Given the description of an element on the screen output the (x, y) to click on. 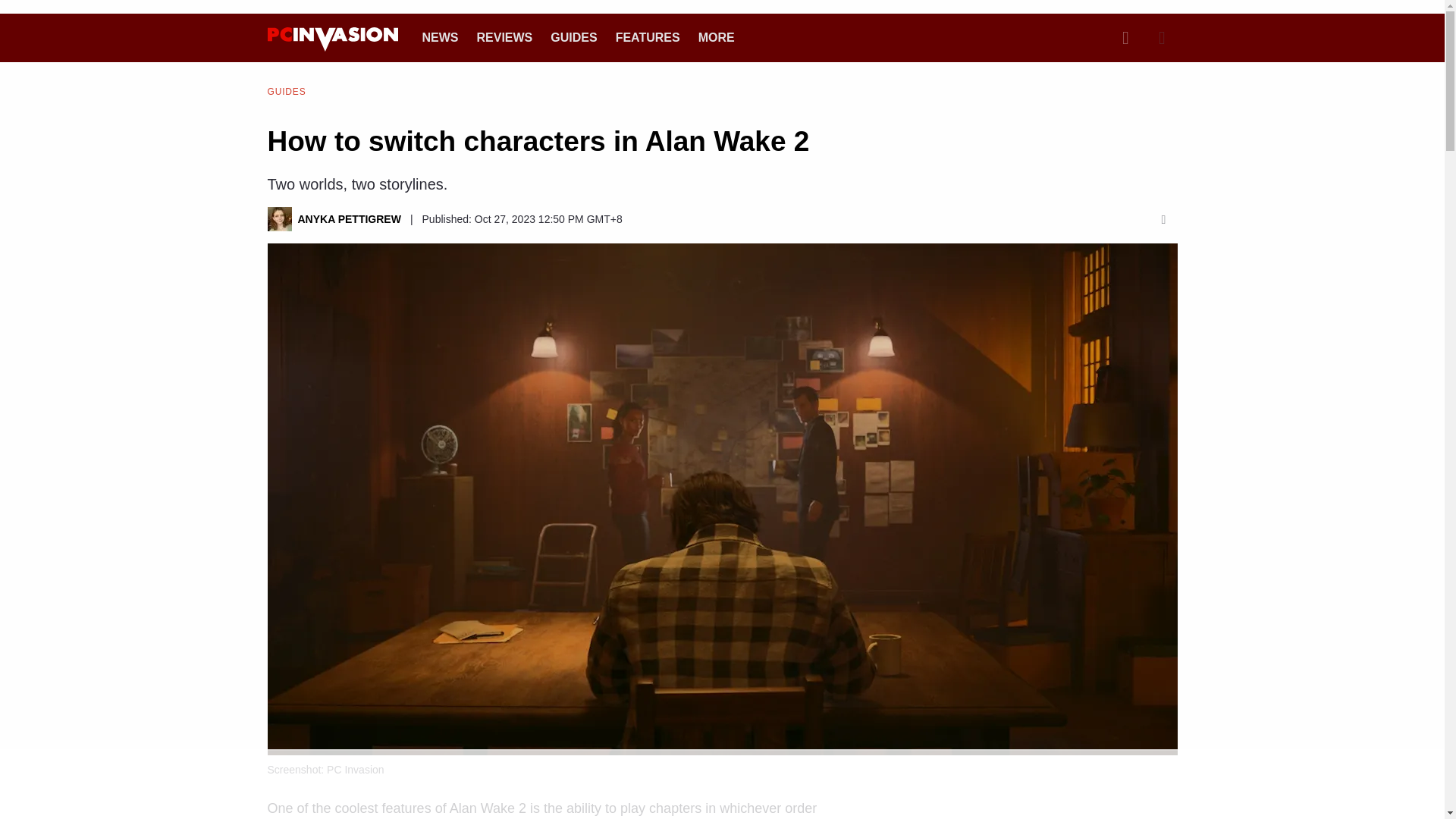
REVIEWS (504, 37)
Search (1124, 37)
Dark Mode (1161, 37)
GUIDES (573, 37)
NEWS (440, 37)
FEATURES (647, 37)
3rd party ad content (721, 785)
3rd party ad content (1024, 807)
GUIDES (285, 91)
